Given the description of an element on the screen output the (x, y) to click on. 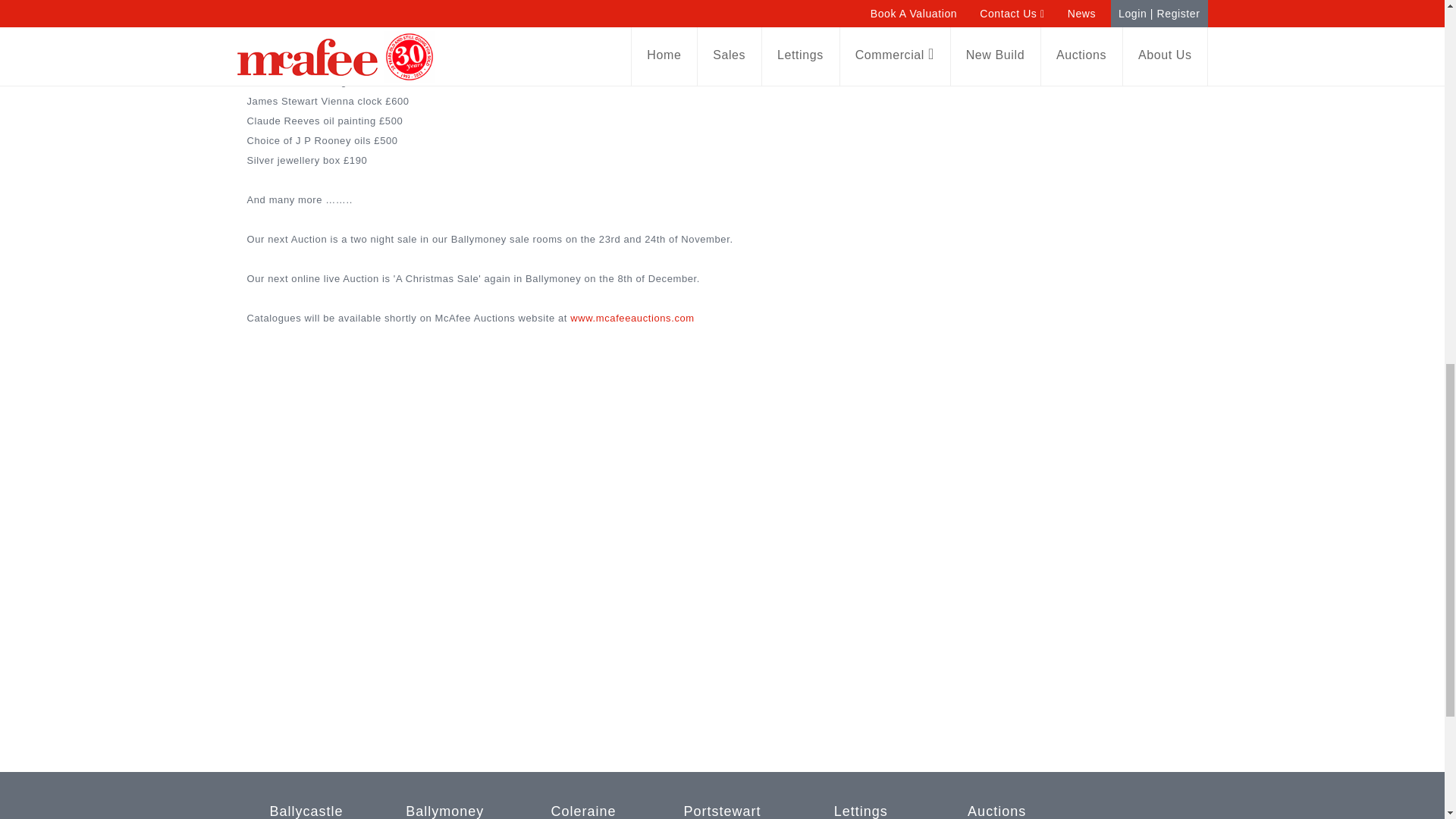
www.mcafeeauctions.com (632, 317)
